Given the description of an element on the screen output the (x, y) to click on. 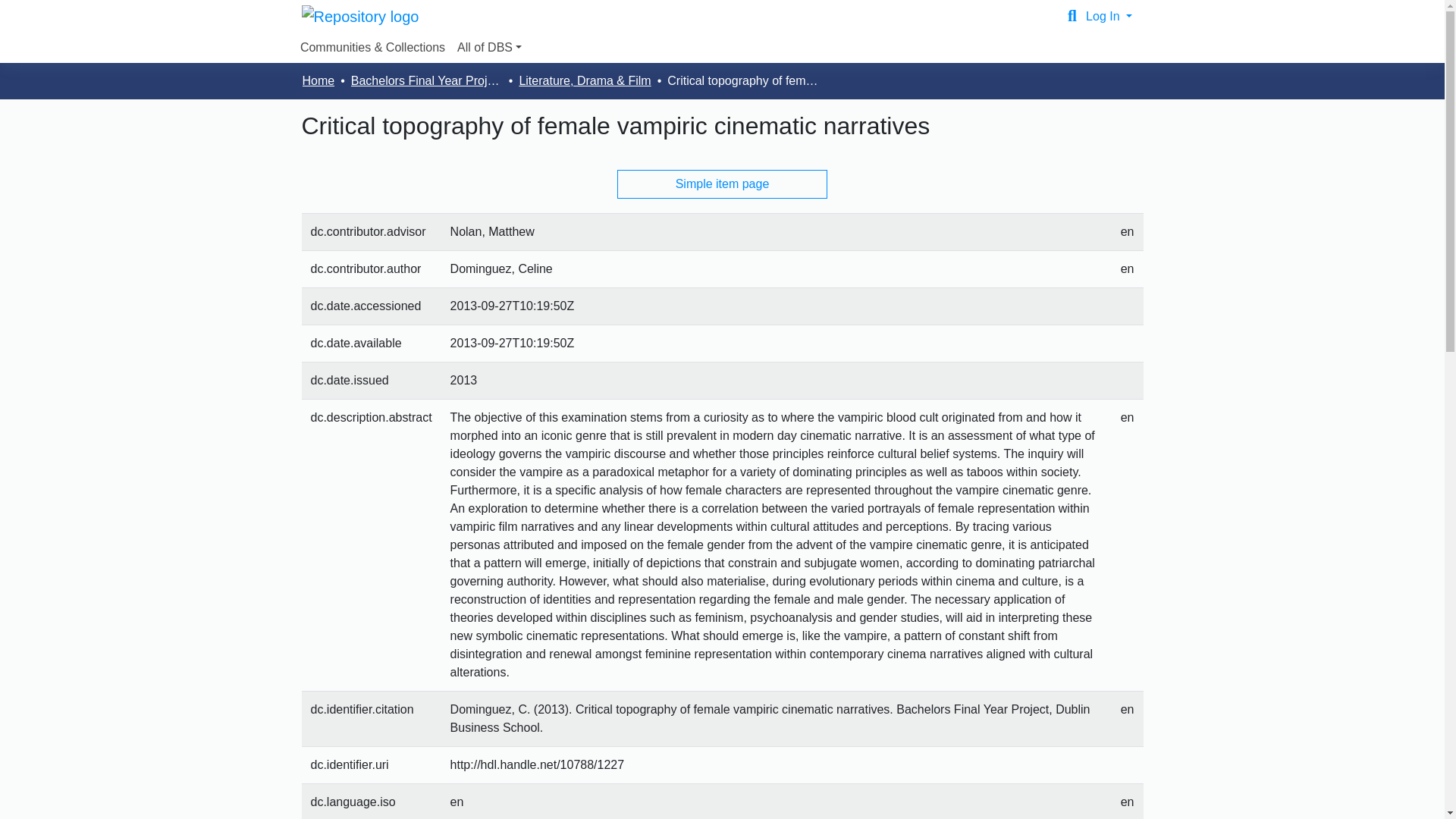
Log In (1108, 15)
Home (317, 81)
All of DBS (489, 47)
Bachelors Final Year Projects (426, 81)
Simple item page (722, 184)
Search (1072, 16)
